Given the description of an element on the screen output the (x, y) to click on. 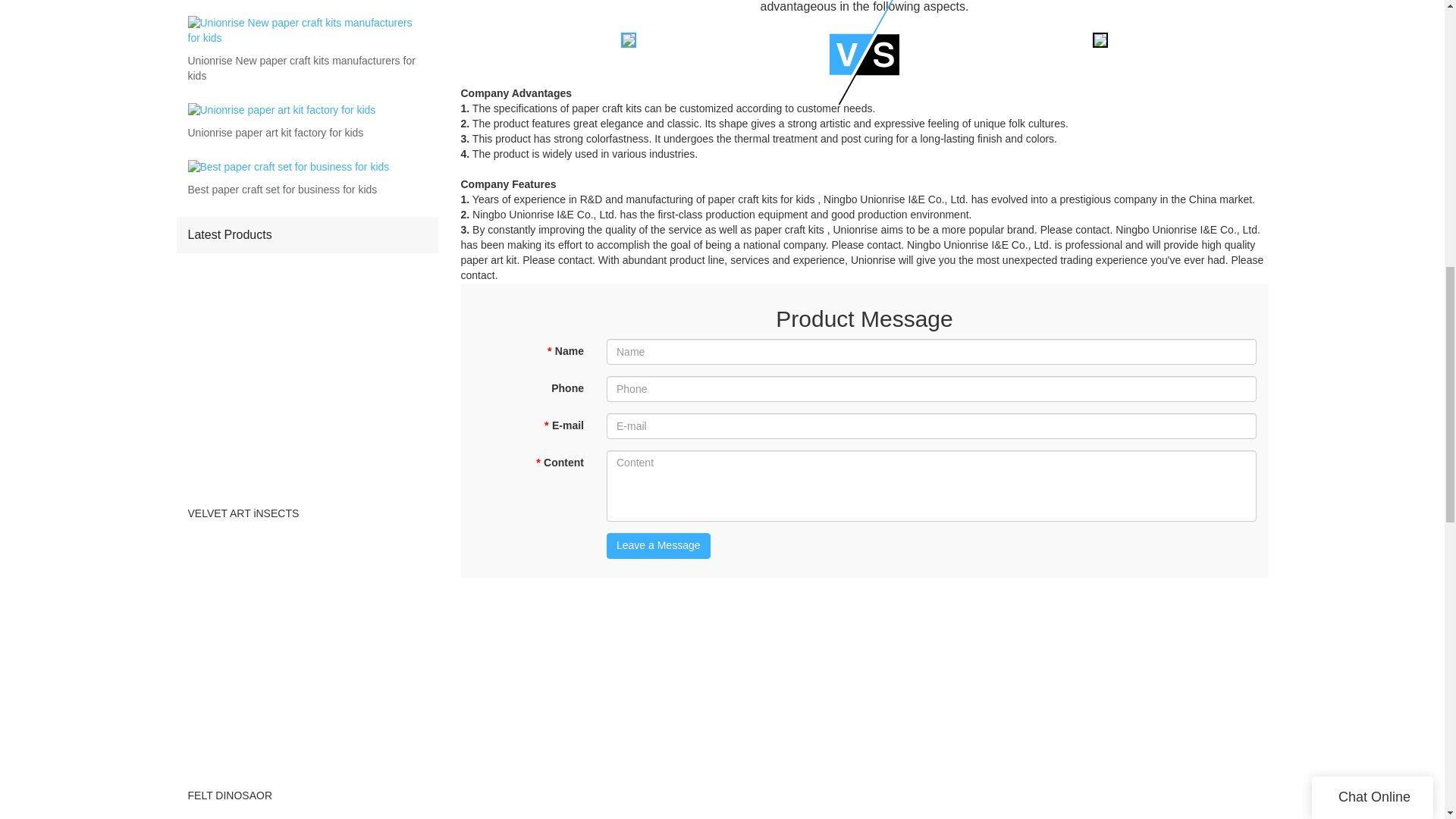
Unionrise New paper craft kits manufacturers for kids (306, 69)
Unionrise paper art kit factory for kids (275, 133)
VELVET ART iNSECTS (306, 513)
Best paper craft set for business for kids (282, 190)
FELT DINOSAOR (306, 795)
